Given the description of an element on the screen output the (x, y) to click on. 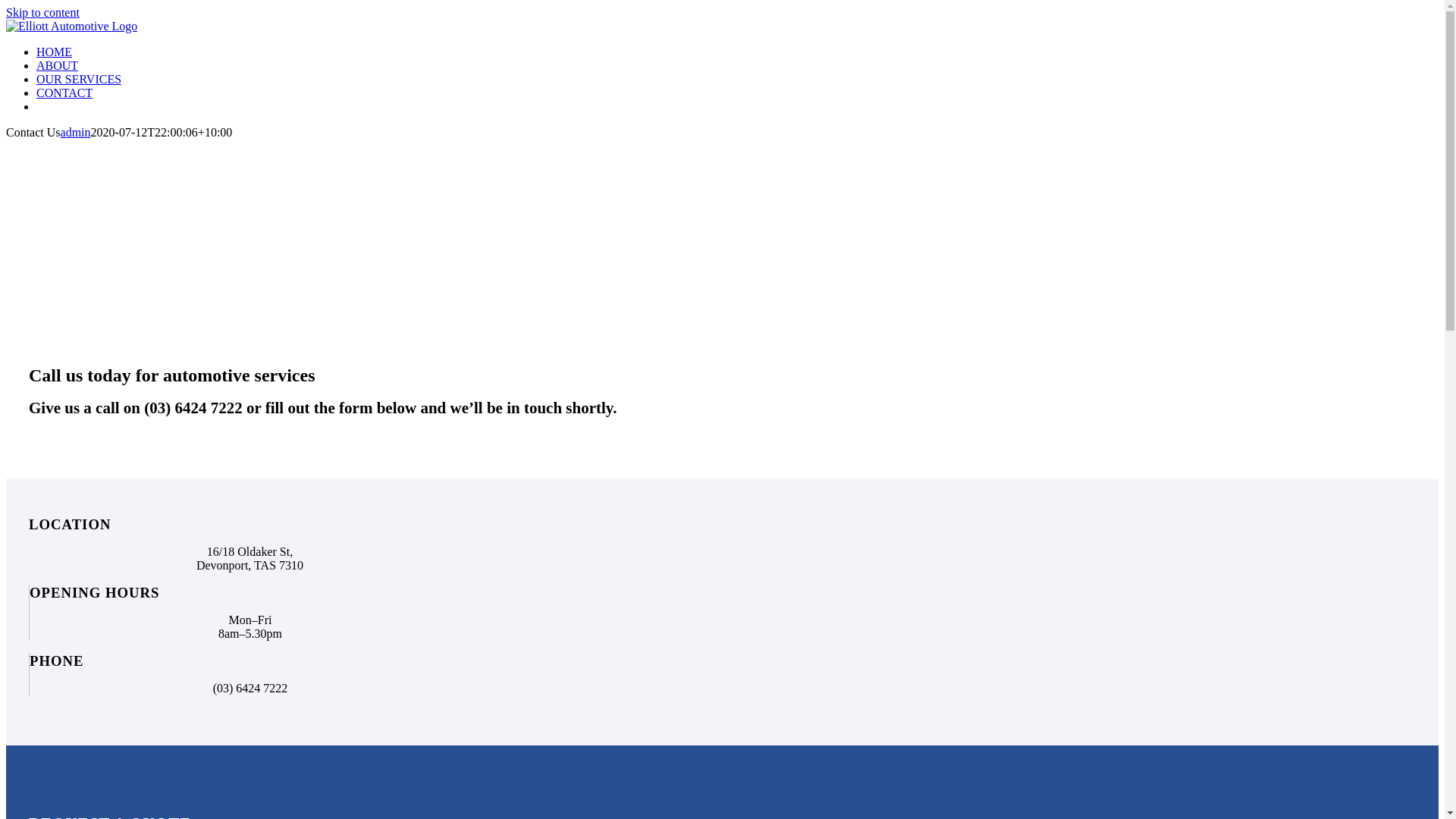
Skip to content Element type: text (42, 12)
HOME Element type: text (54, 51)
ABOUT Element type: text (57, 65)
CONTACT Element type: text (64, 92)
OUR SERVICES Element type: text (78, 78)
admin Element type: text (75, 131)
